Given the description of an element on the screen output the (x, y) to click on. 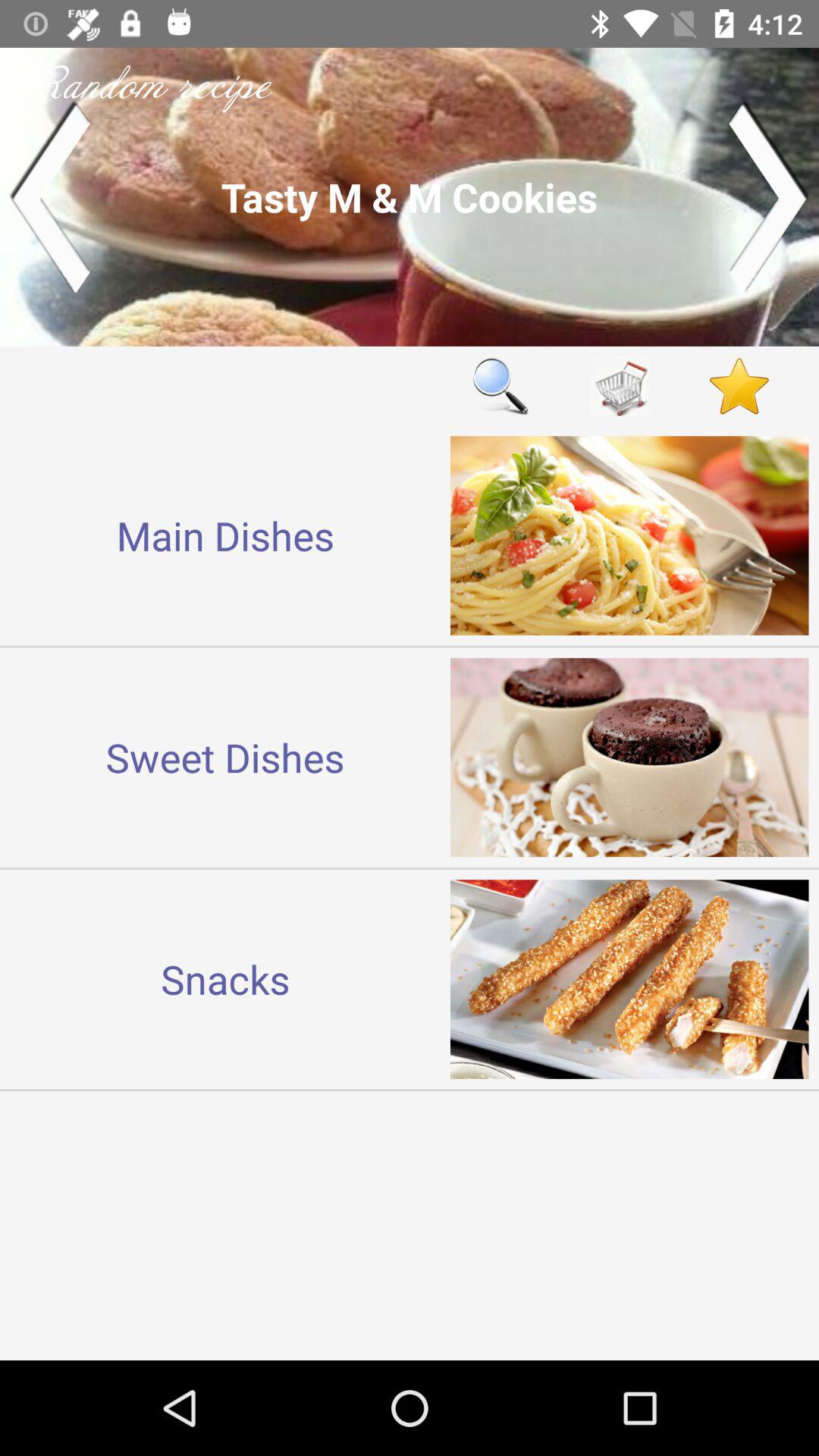
view recipe (409, 196)
